Given the description of an element on the screen output the (x, y) to click on. 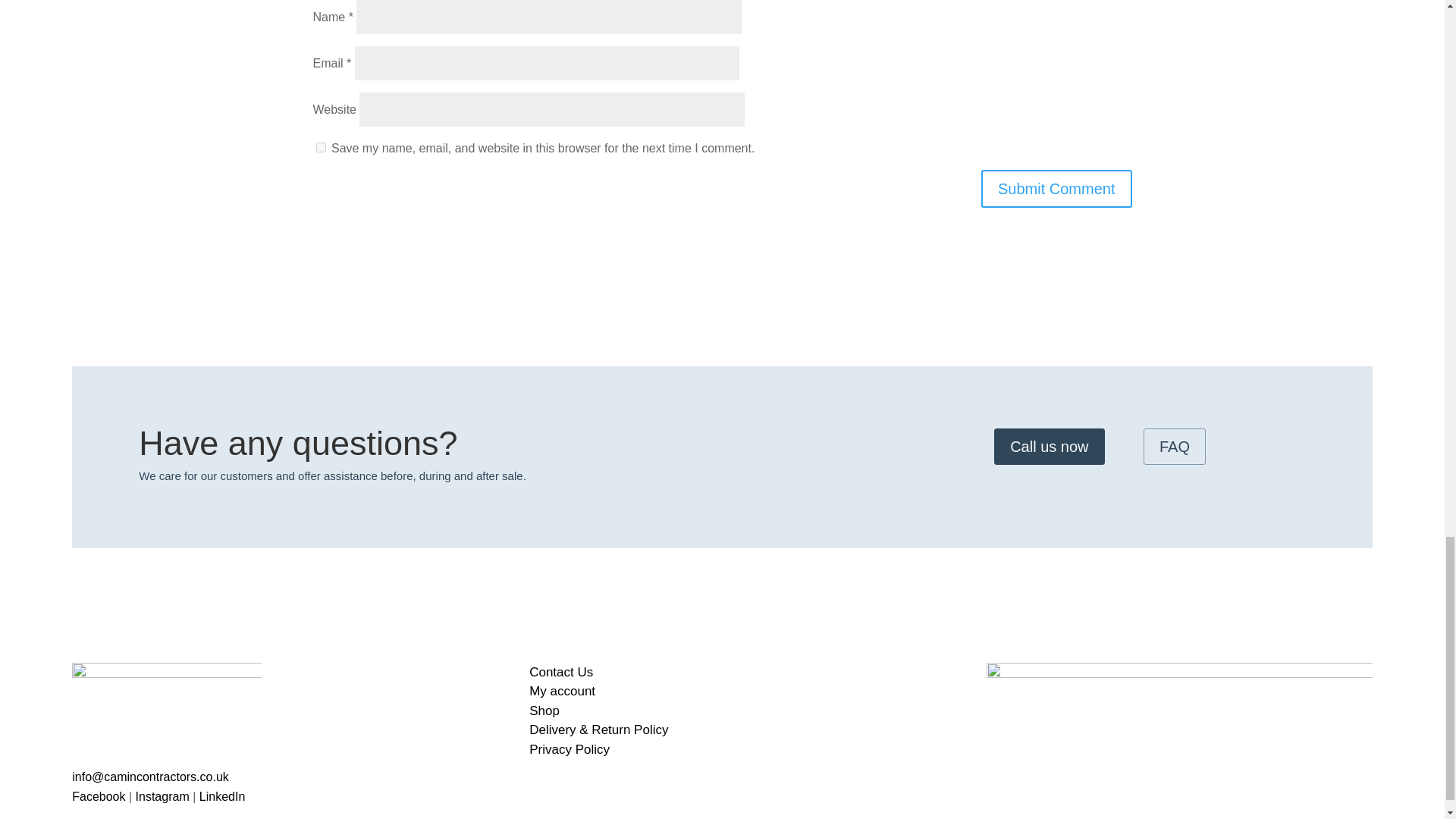
yes (319, 147)
Submit Comment (1056, 188)
Submit Comment (1056, 188)
stripe-badge-transparent (1180, 725)
